Given the description of an element on the screen output the (x, y) to click on. 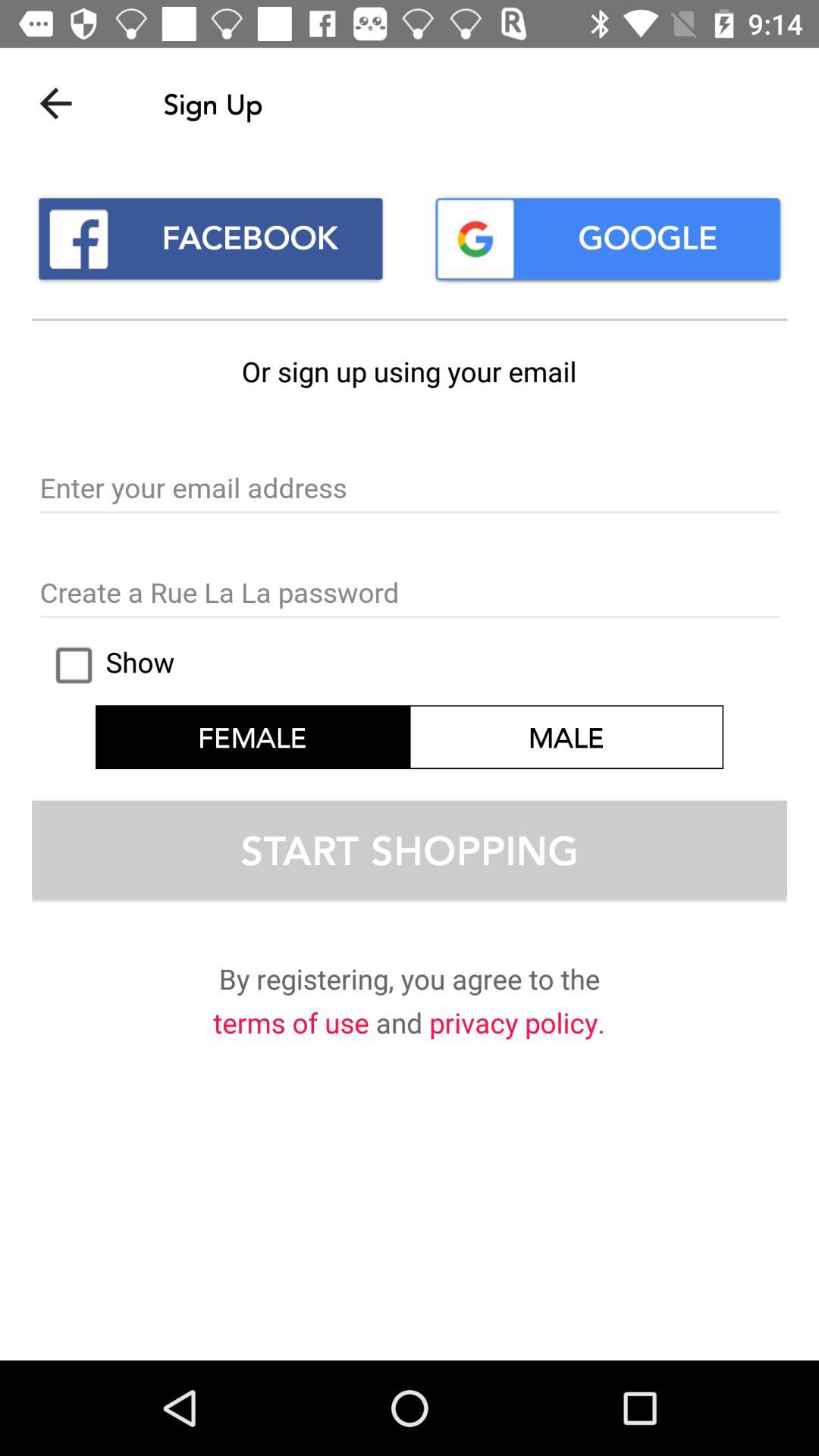
select icon next to male item (108, 665)
